Given the description of an element on the screen output the (x, y) to click on. 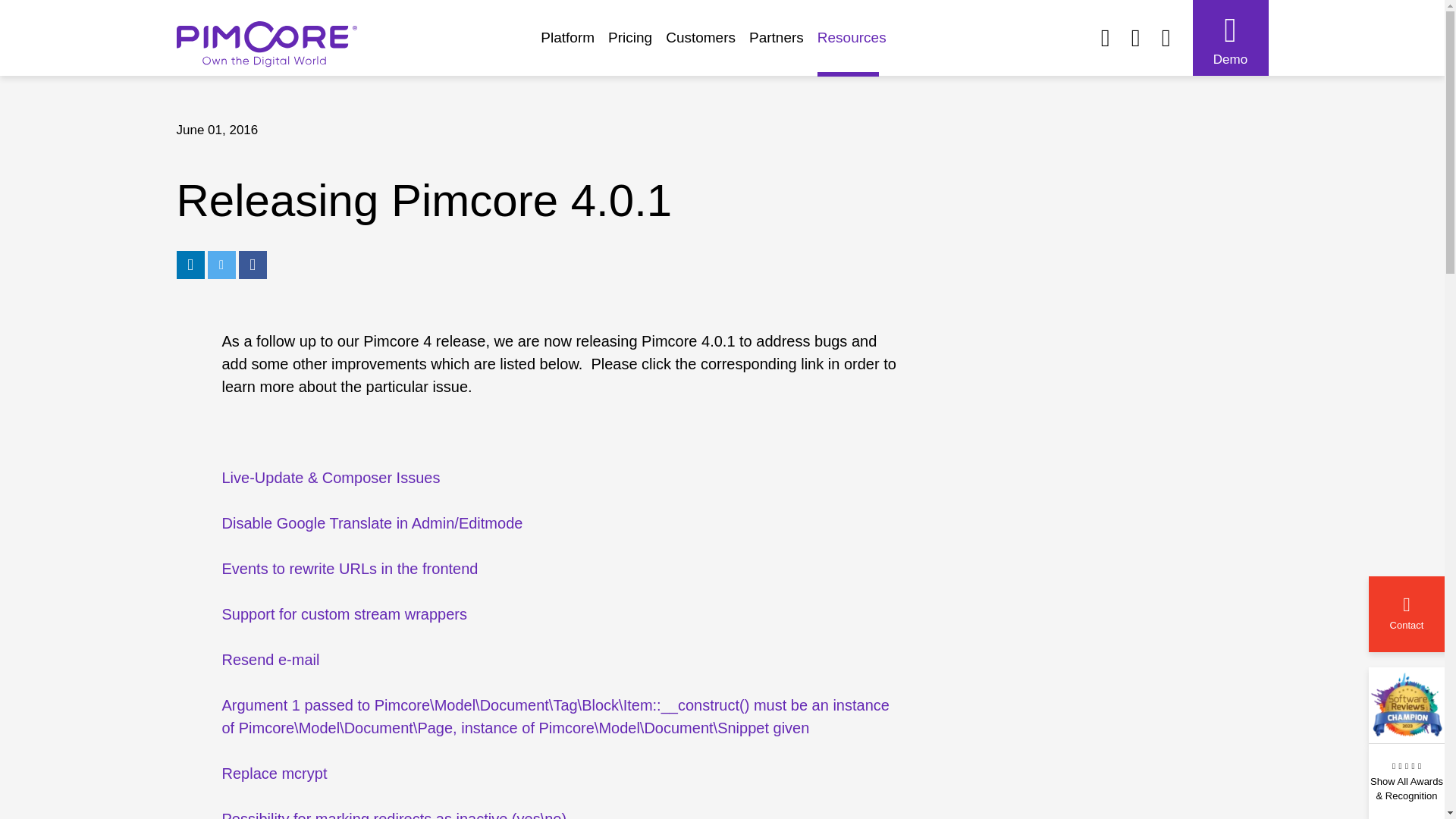
Customers (707, 44)
Partners (782, 44)
Share on LinkedIn (189, 264)
Share on Twitter (221, 264)
Pricing (636, 44)
Share on Facebook (252, 264)
Platform (574, 44)
